Given the description of an element on the screen output the (x, y) to click on. 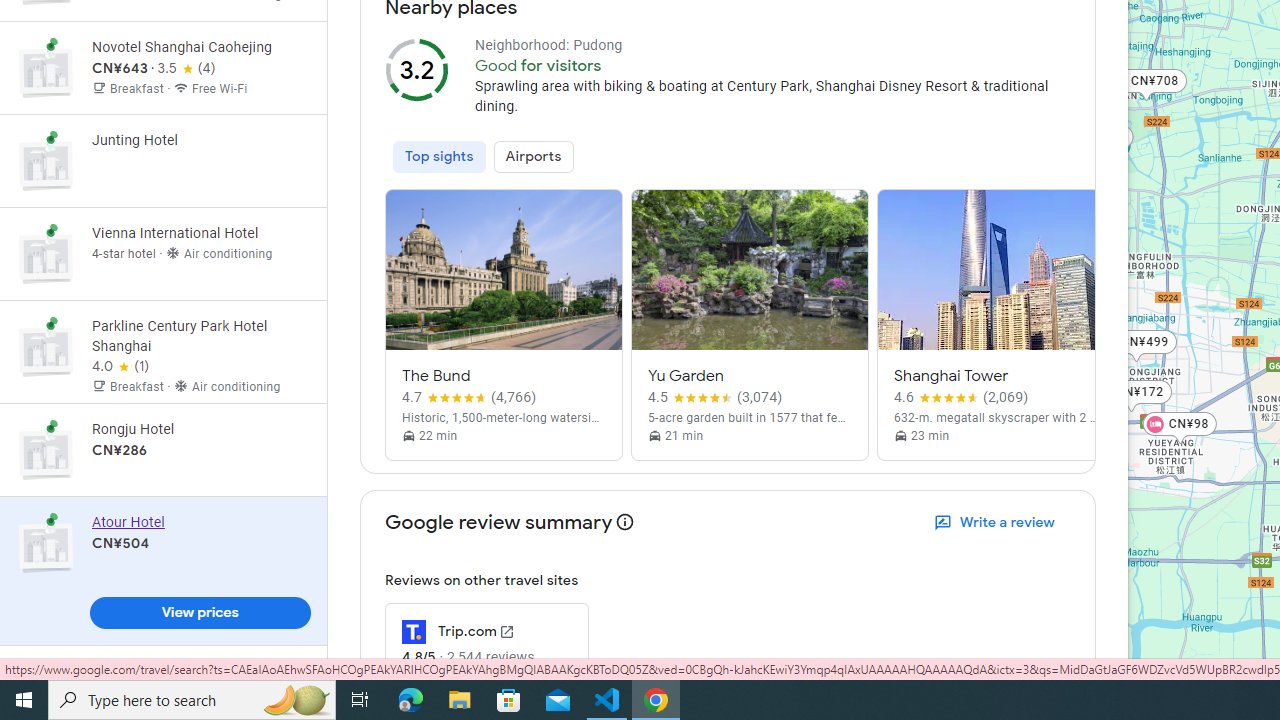
3.5 out of 5 stars from 4 reviews (186, 69)
4.6 out of 5 stars from 2,069 reviews (961, 398)
View prices for Rongju Hotel (200, 519)
4.7 out of 5 stars from 4,766 reviews (469, 398)
More info (625, 522)
